Given the description of an element on the screen output the (x, y) to click on. 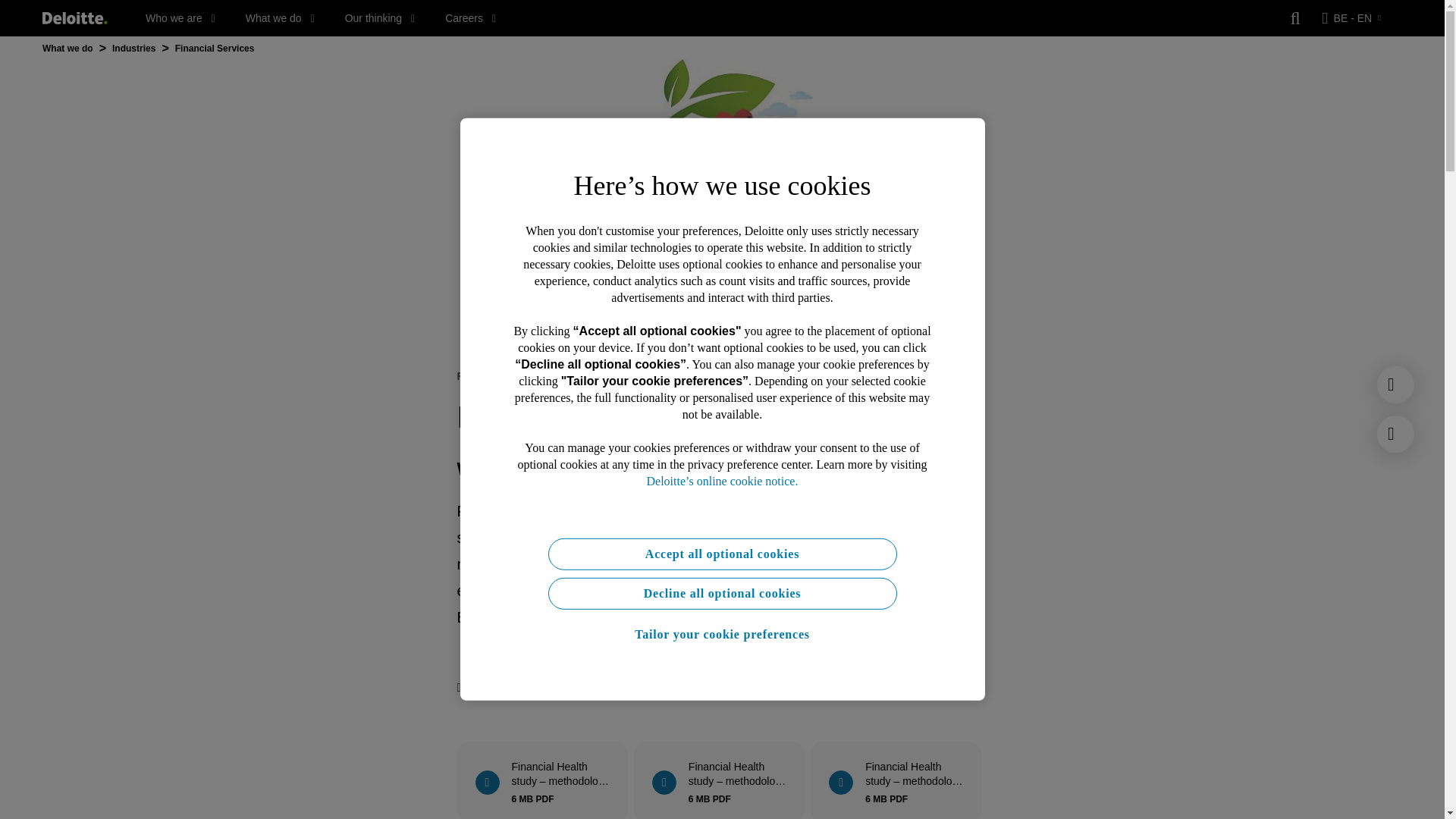
Print (474, 687)
share via... (558, 687)
Who we are (180, 18)
Careers (470, 18)
share via... (528, 687)
share via... (588, 687)
share via... (619, 687)
Deloitte (74, 18)
Our thinking (379, 18)
What we do (280, 18)
